Given the description of an element on the screen output the (x, y) to click on. 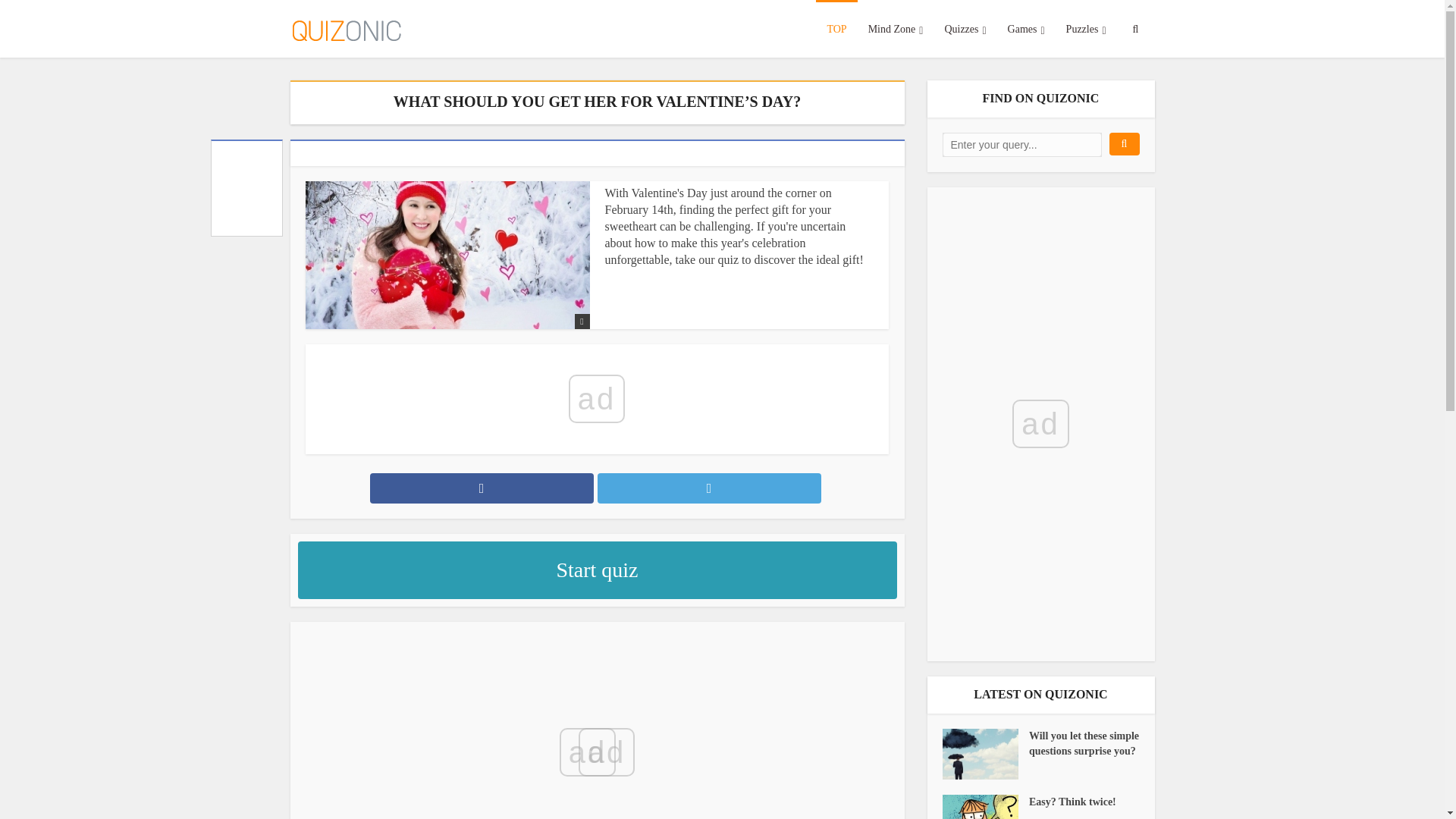
Easy? Think twice! (984, 806)
Quizzes (964, 28)
Mind Zone (895, 28)
Will you let these simple questions surprise you? (1084, 743)
Puzzles (1085, 28)
Games (1026, 28)
Easy? Think twice! (1084, 801)
Will you let these simple questions surprise you? (984, 753)
Start quiz (596, 569)
